Given the description of an element on the screen output the (x, y) to click on. 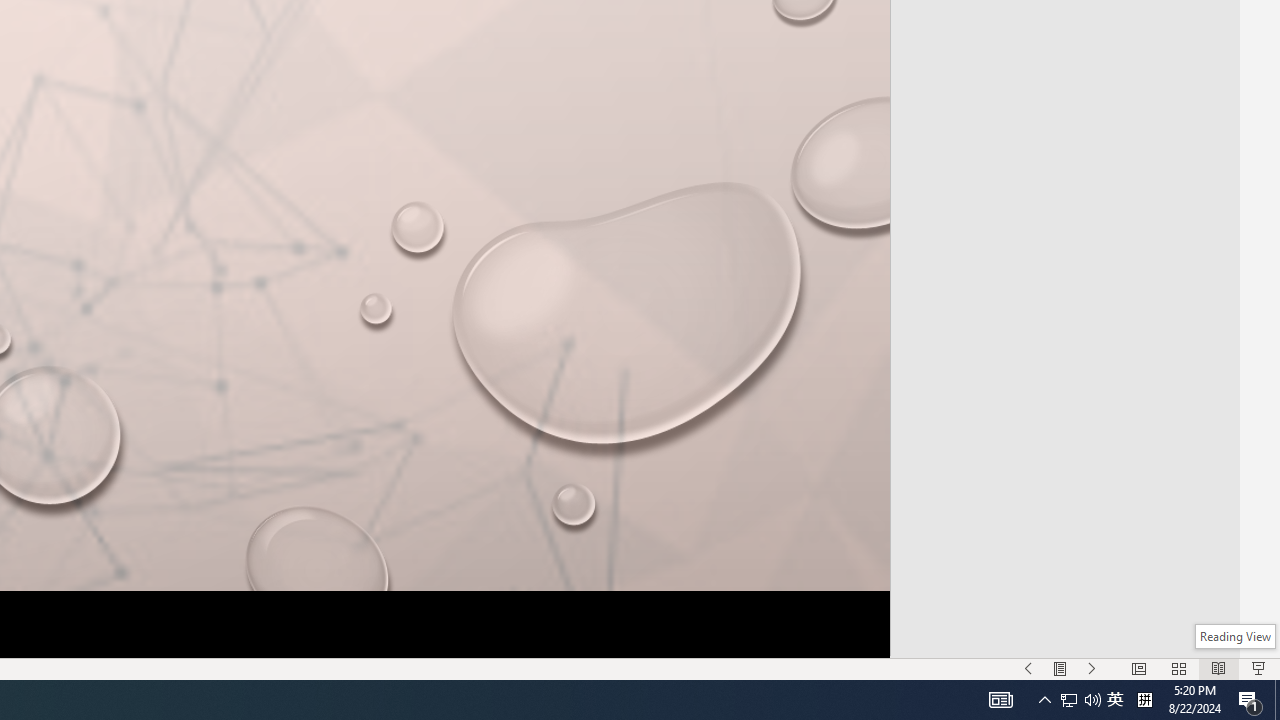
Slide Show Previous On (1028, 668)
Slide Show Next On (1092, 668)
Menu On (1060, 668)
